Given the description of an element on the screen output the (x, y) to click on. 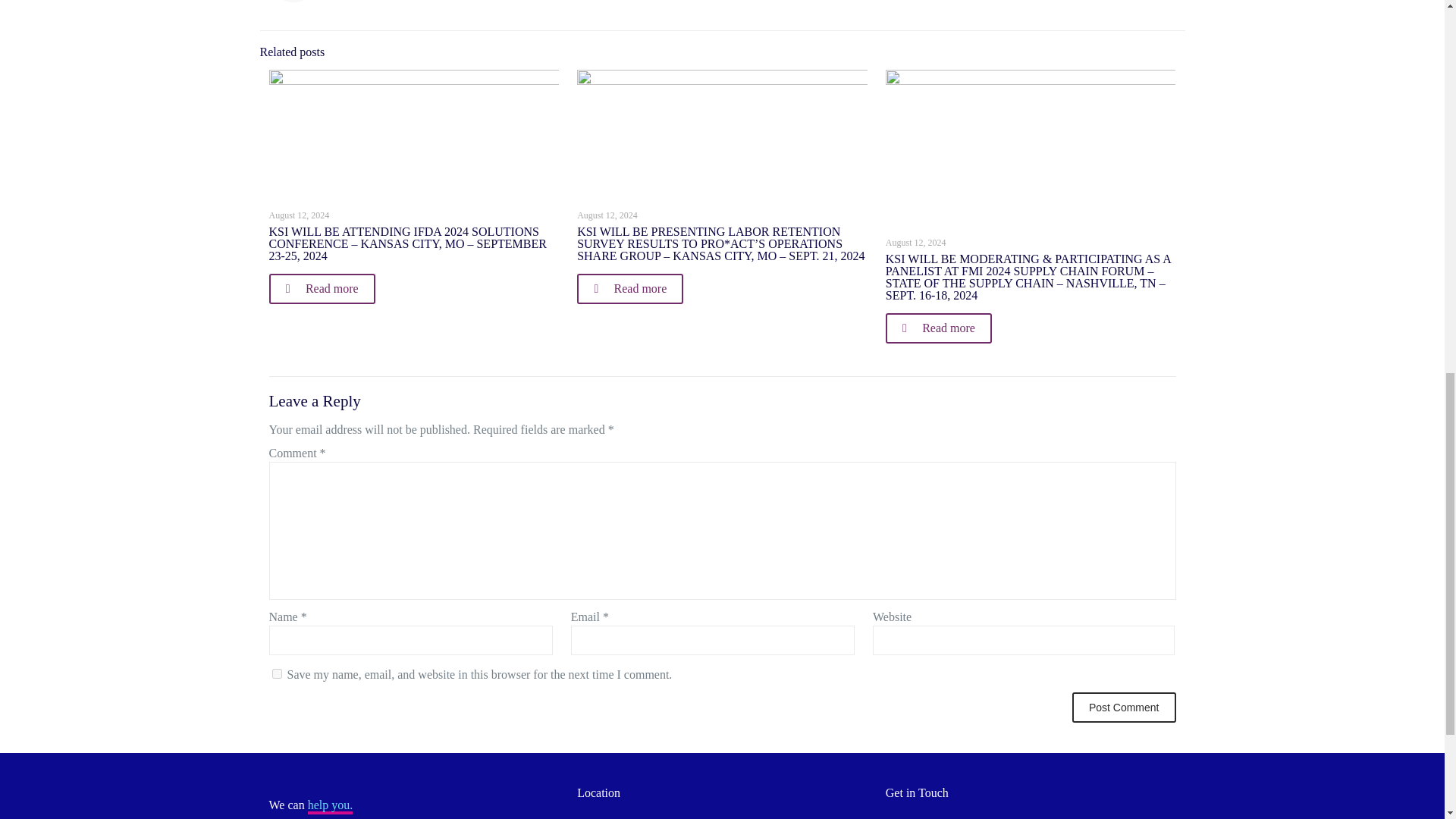
Post Comment (1123, 707)
yes (275, 673)
Read more (320, 288)
